Given the description of an element on the screen output the (x, y) to click on. 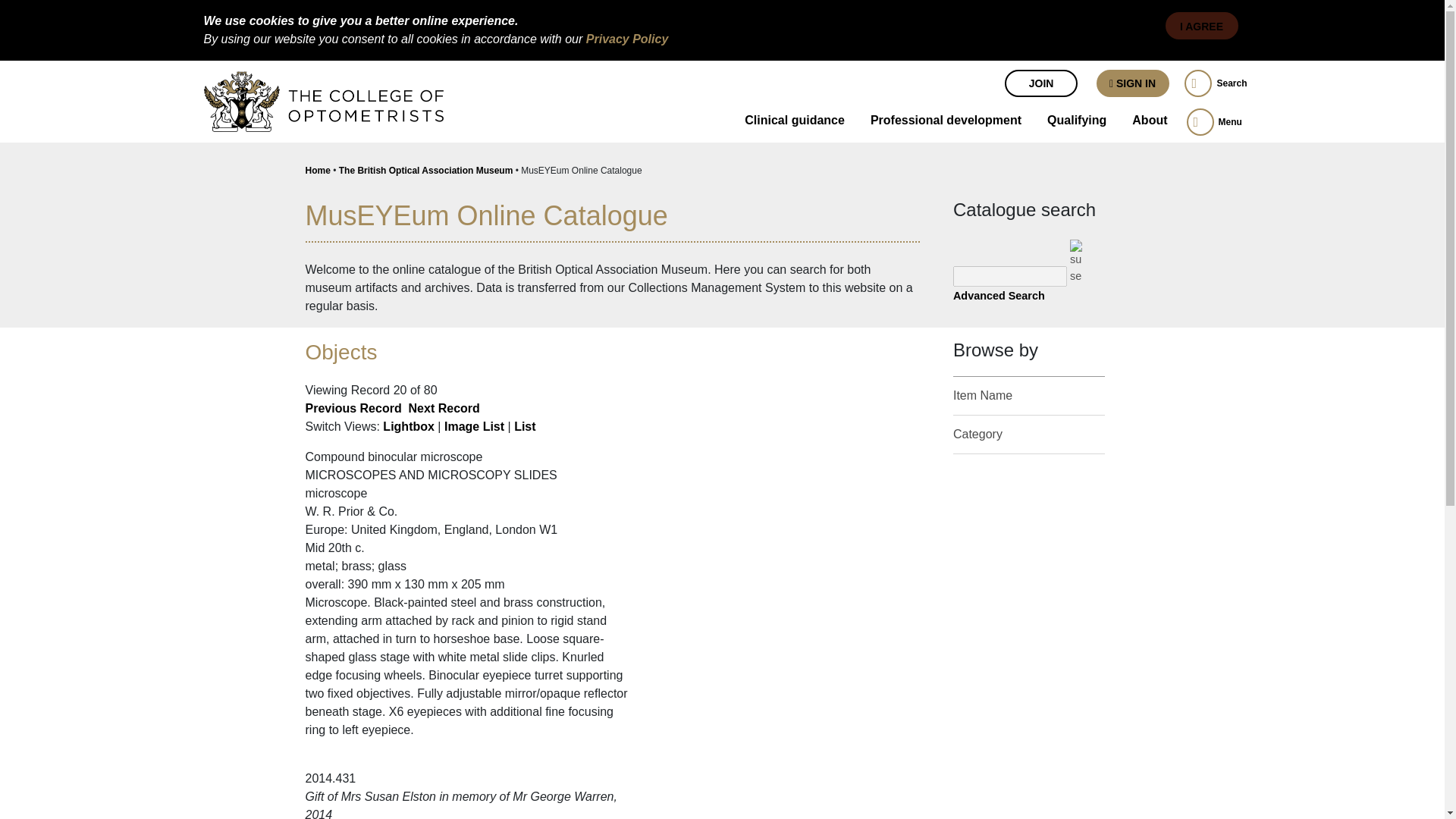
Clinical guidance (794, 122)
Search (1215, 83)
JOIN (1040, 83)
Homepage (279, 80)
Privacy Policy (627, 38)
Homepage (322, 101)
SIGN IN (1132, 83)
Professional development (945, 121)
Clinical guidance (794, 121)
Professional development (945, 122)
Qualifying (1076, 121)
I AGREE (1200, 25)
About (1149, 122)
Qualifying (1076, 122)
